Given the description of an element on the screen output the (x, y) to click on. 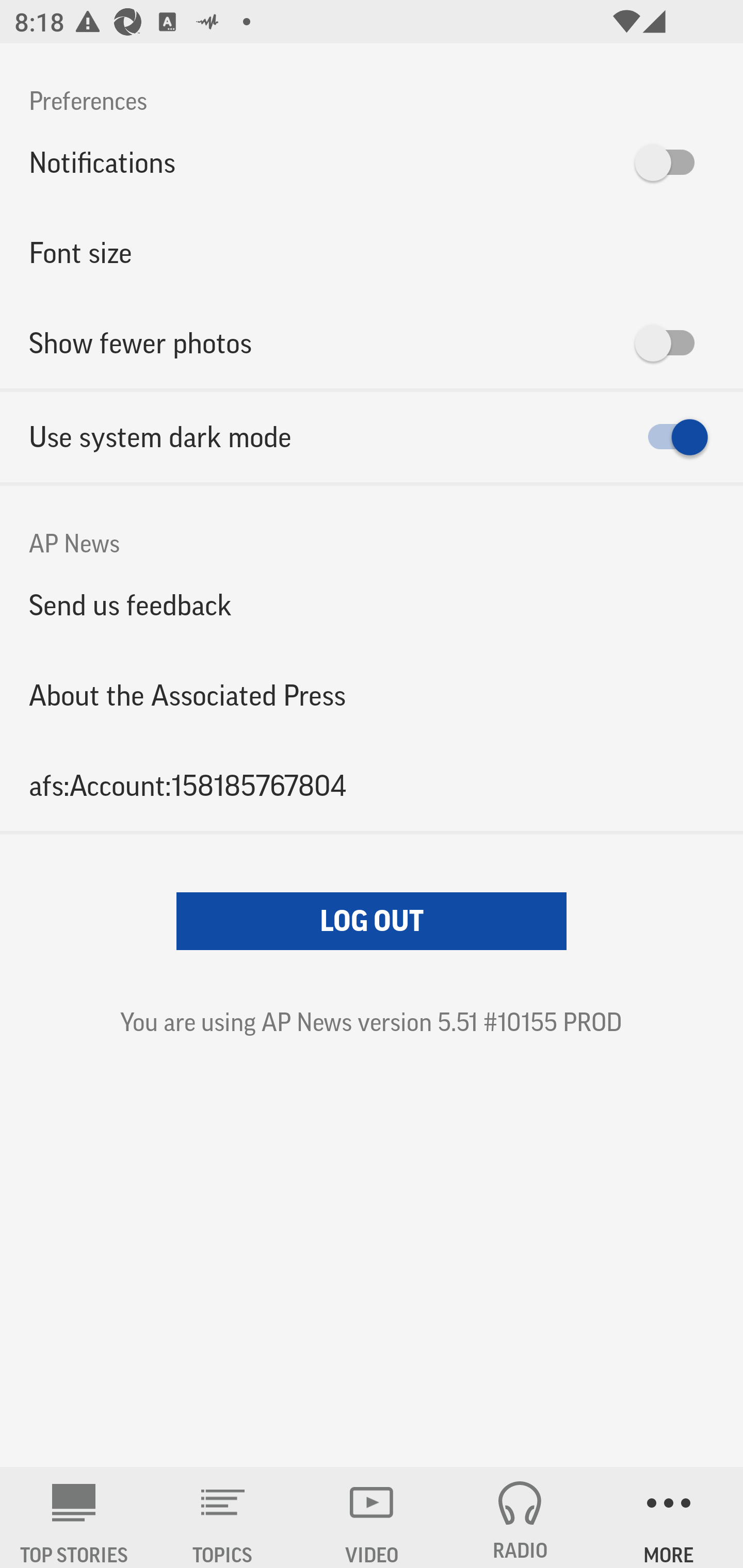
Notifications (371, 162)
Font size (371, 252)
Show fewer photos (371, 342)
Use system dark mode (371, 437)
Send us feedback (371, 604)
About the Associated Press (371, 695)
afs:Account:158185767804 (371, 785)
LOG OUT (371, 921)
AP News TOP STORIES (74, 1517)
TOPICS (222, 1517)
VIDEO (371, 1517)
RADIO (519, 1517)
MORE (668, 1517)
